Given the description of an element on the screen output the (x, y) to click on. 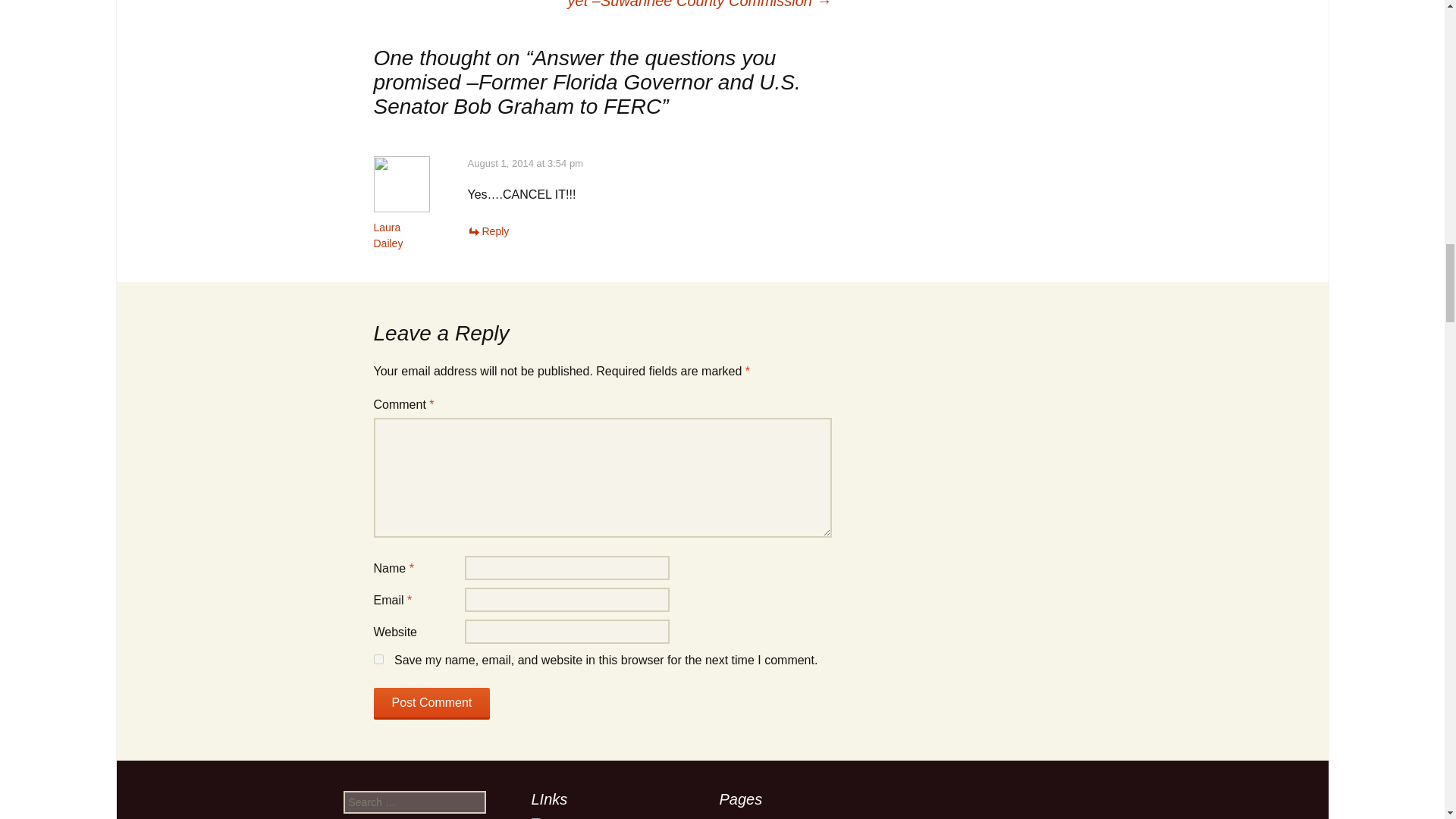
Post Comment (430, 703)
yes (377, 659)
